Given the description of an element on the screen output the (x, y) to click on. 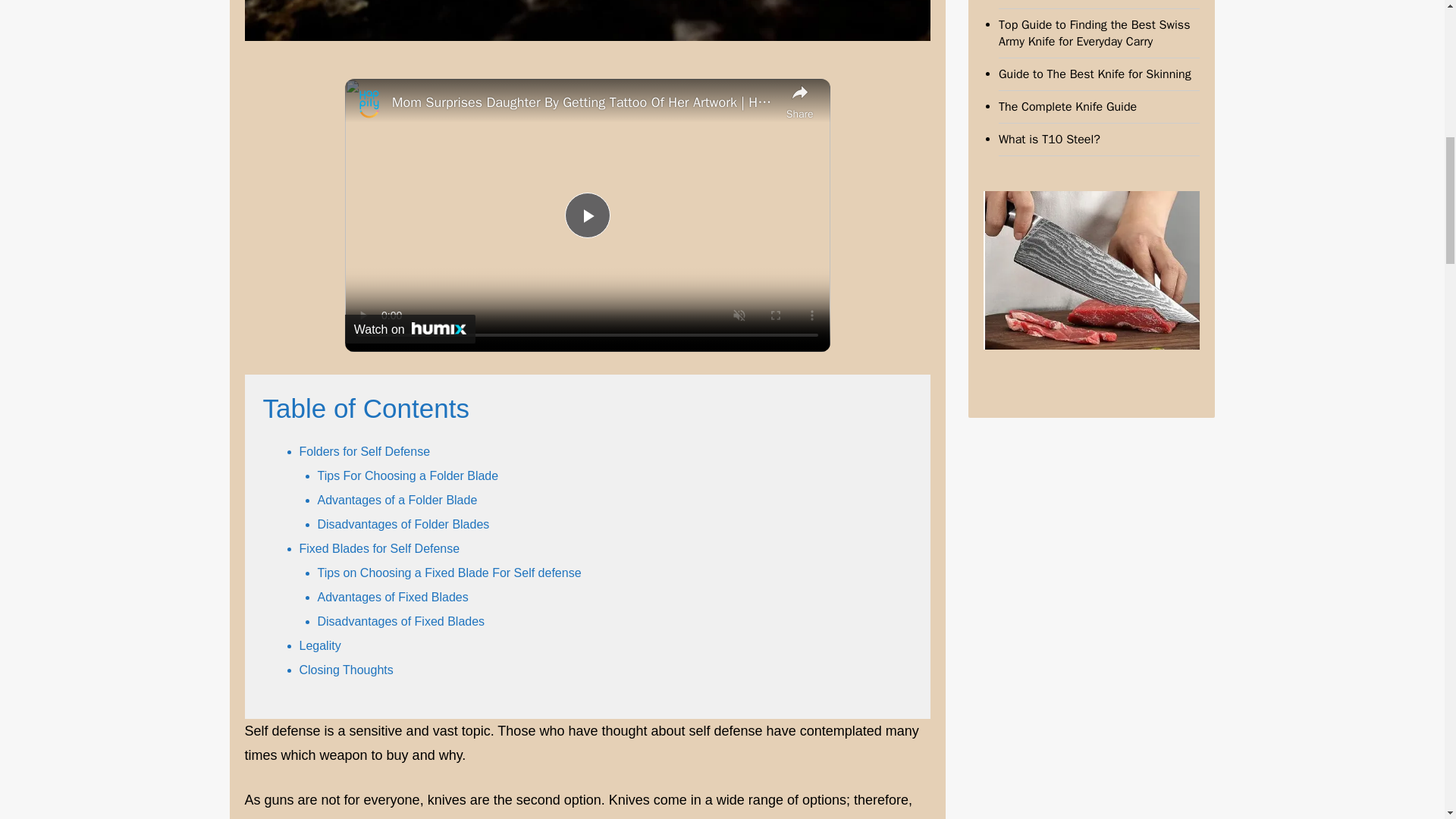
Share (799, 100)
Disadvantages of Folder Blades (403, 523)
Folders for Self Defense  (365, 451)
Watch on (410, 328)
Play Video (587, 215)
Play Video (587, 215)
Tips For Choosing a Folder Blade (407, 475)
Advantages of a Folder Blade  (398, 499)
share (799, 100)
Fixed Blades for Self Defense (379, 548)
Scroll back to top (1406, 720)
